Given the description of an element on the screen output the (x, y) to click on. 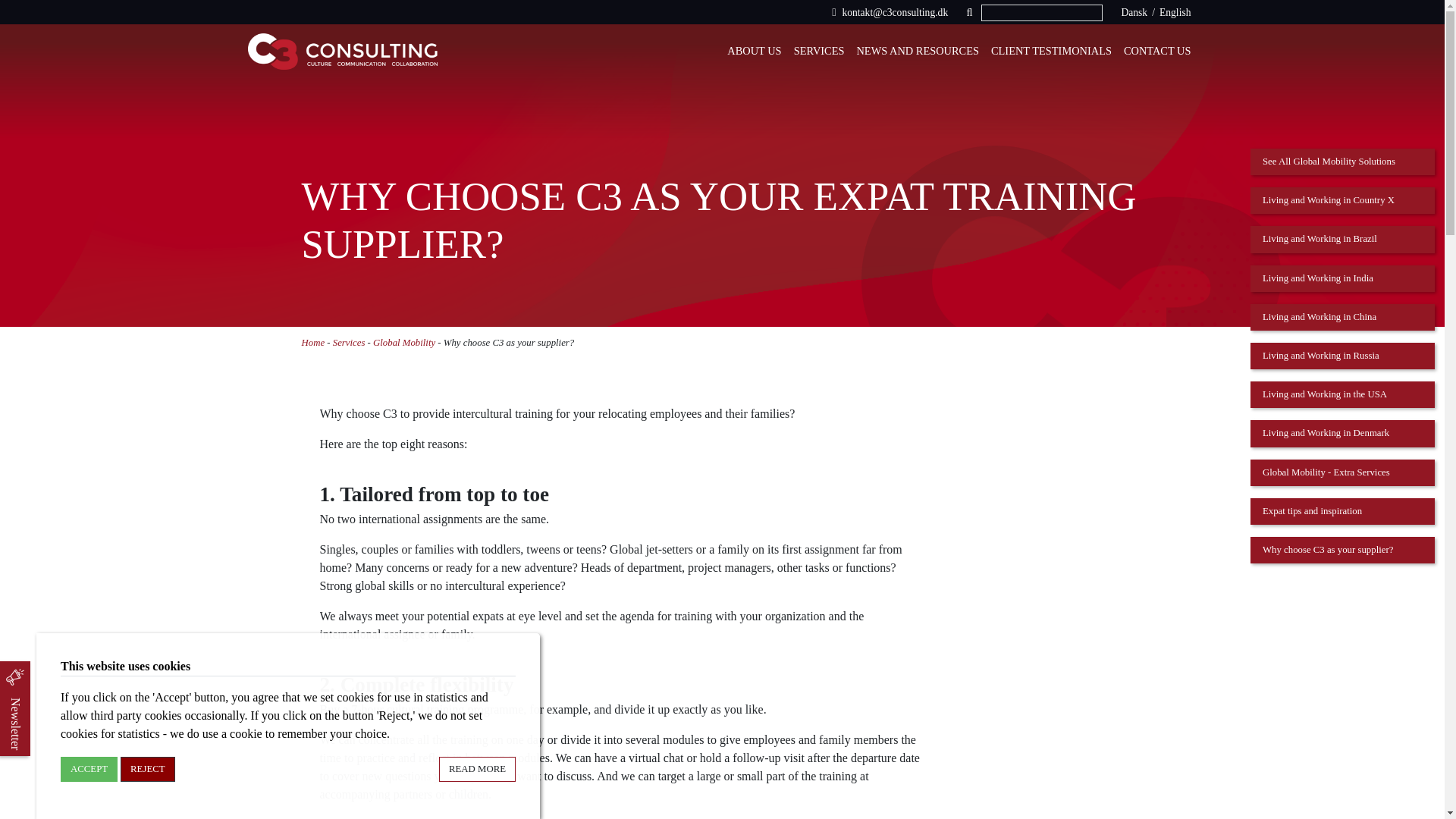
Dansk (1134, 12)
English (1174, 12)
ABOUT US (753, 51)
SERVICES (818, 51)
